Given the description of an element on the screen output the (x, y) to click on. 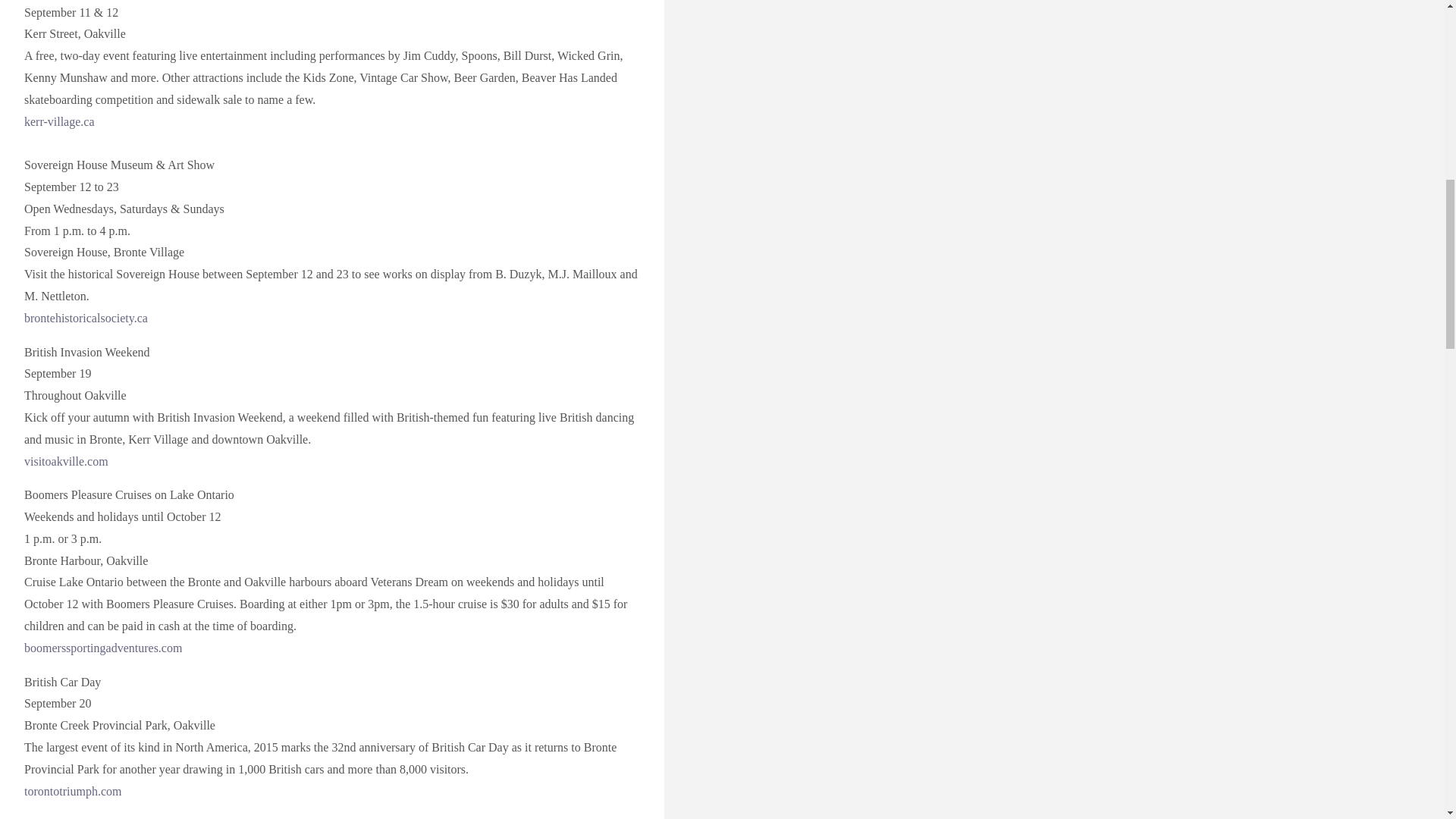
kerr-village.ca (59, 121)
visitoakville.com (65, 461)
boomerssportingadventures.com (103, 647)
torontotriumph.com (72, 790)
brontehistoricalsociety.ca (86, 318)
